Given the description of an element on the screen output the (x, y) to click on. 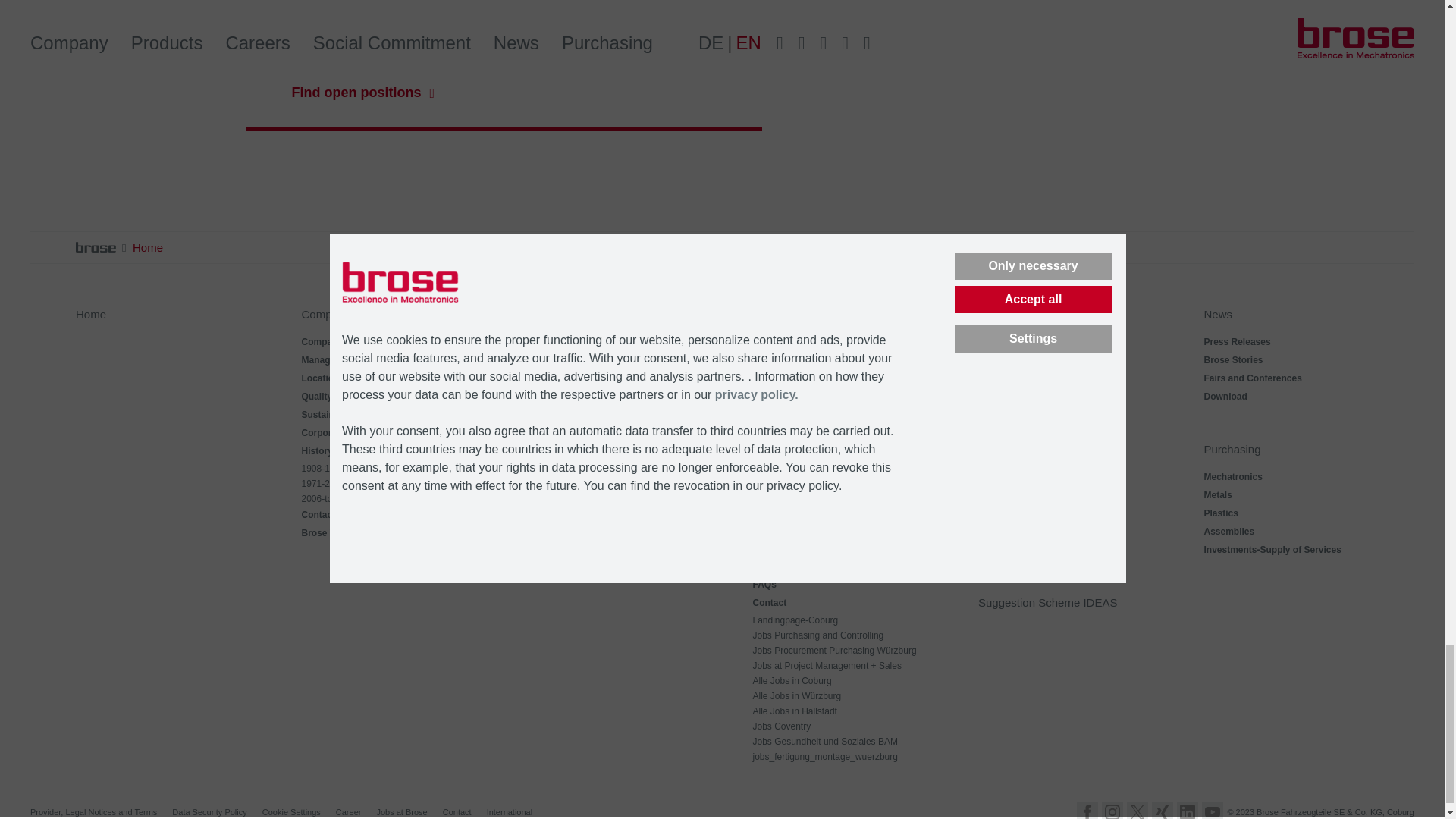
Instagram (1112, 810)
Facebook (1087, 810)
LinkedIn (1187, 810)
Xing (1162, 810)
Twitter (1137, 810)
YouTube (1212, 810)
